Given the description of an element on the screen output the (x, y) to click on. 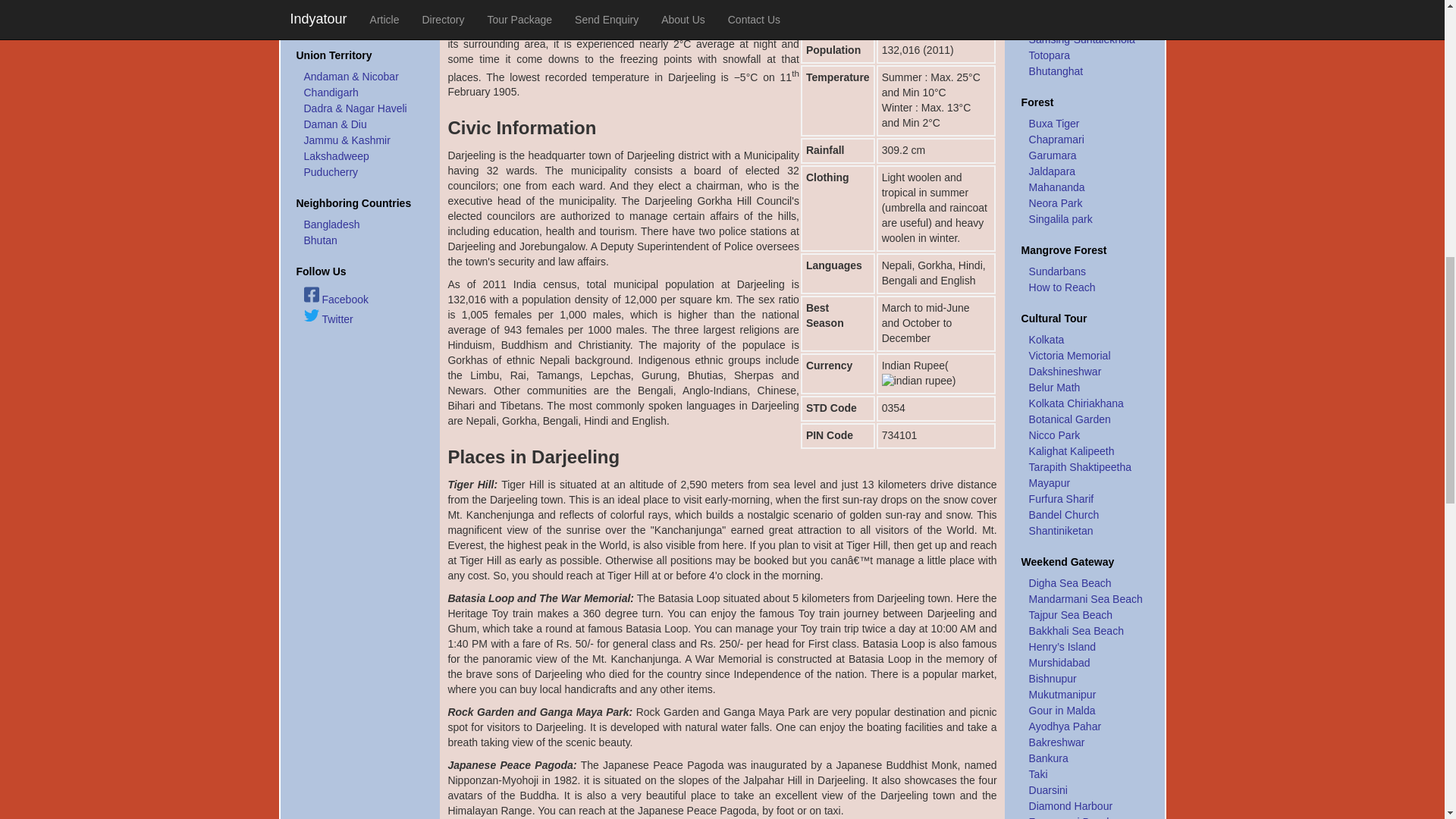
Indian Rupee (917, 381)
